Given the description of an element on the screen output the (x, y) to click on. 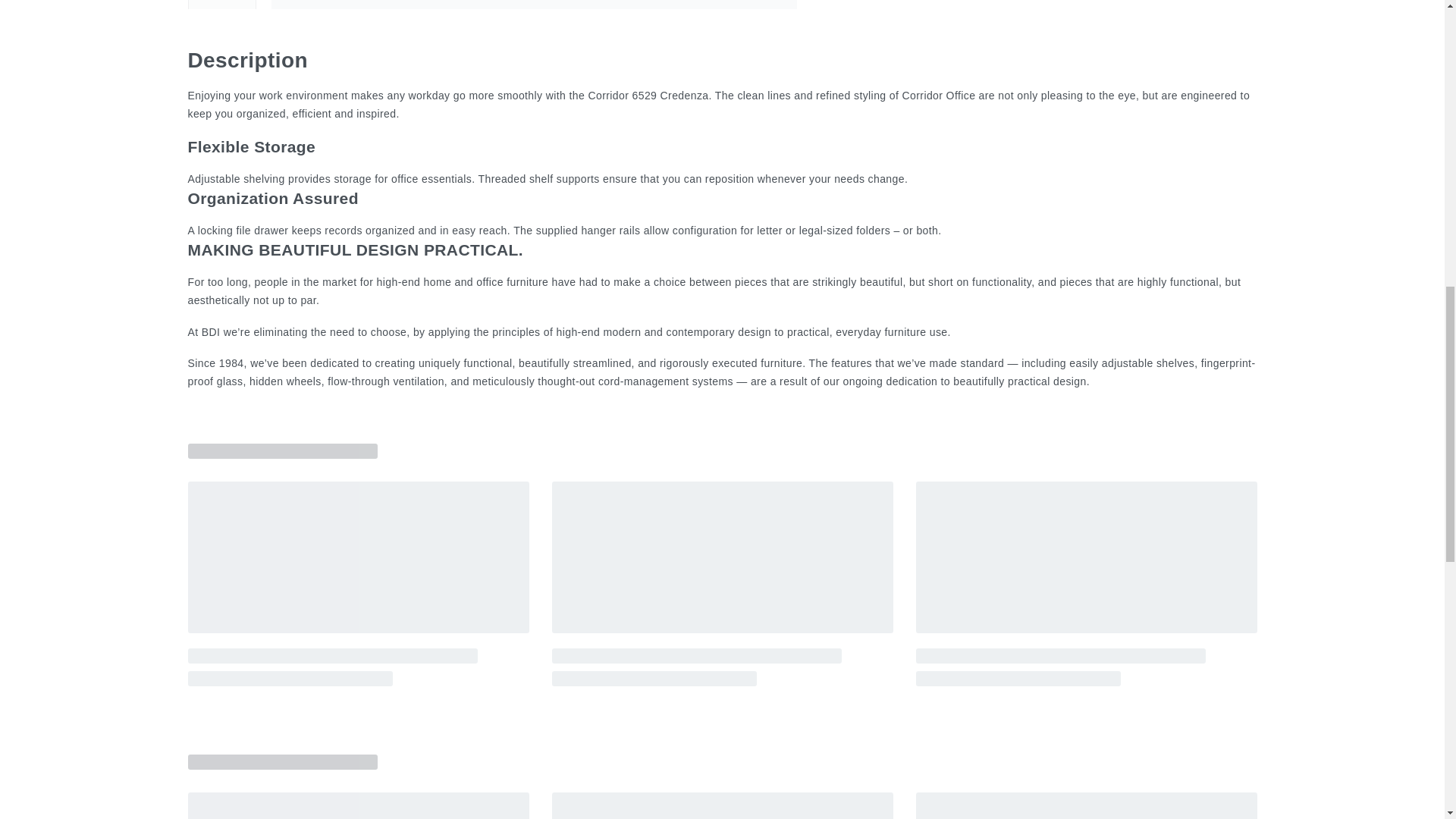
BDI (928, 4)
